Given the description of an element on the screen output the (x, y) to click on. 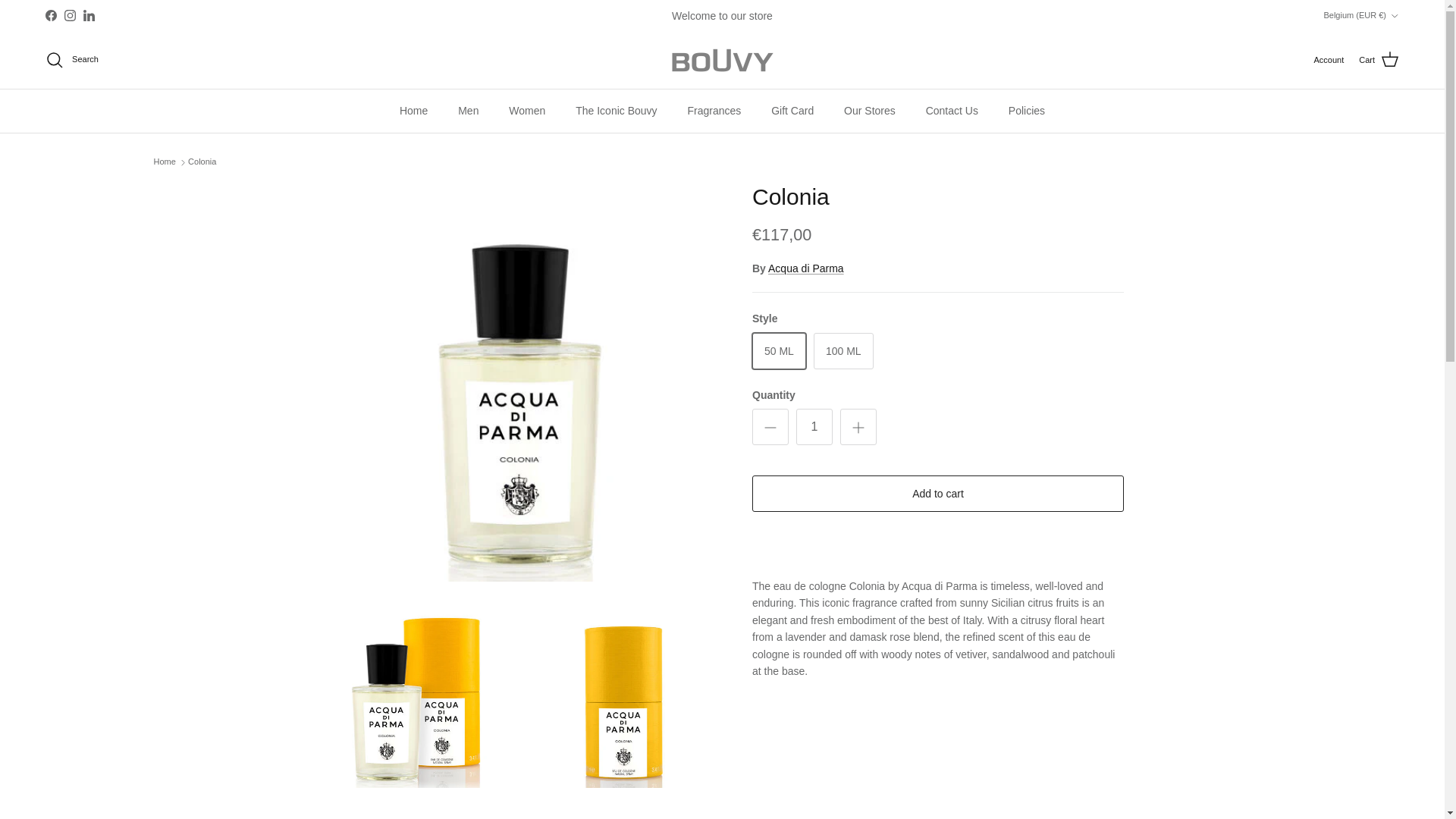
1 (814, 426)
Home (413, 110)
Men (468, 110)
Facebook (50, 15)
BoUvy on Facebook (50, 15)
Instagram (69, 15)
BoUvy on LinkedIn (88, 15)
BoUvy (721, 59)
LinkedIn (88, 15)
Cart (1378, 59)
